Given the description of an element on the screen output the (x, y) to click on. 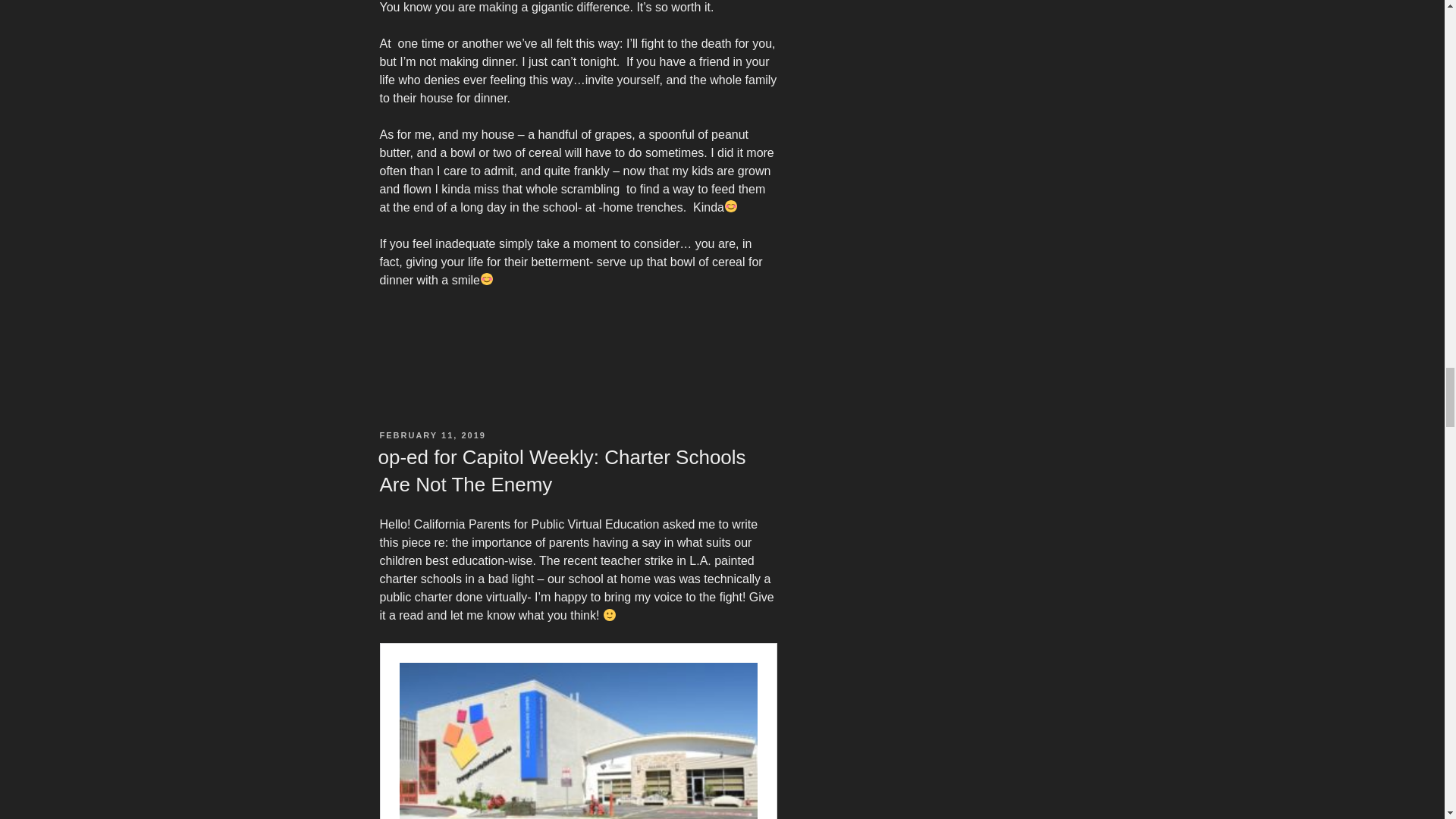
op-ed for Capitol Weekly: Charter Schools Are Not The Enemy (561, 470)
FEBRUARY 11, 2019 (431, 434)
